Given the description of an element on the screen output the (x, y) to click on. 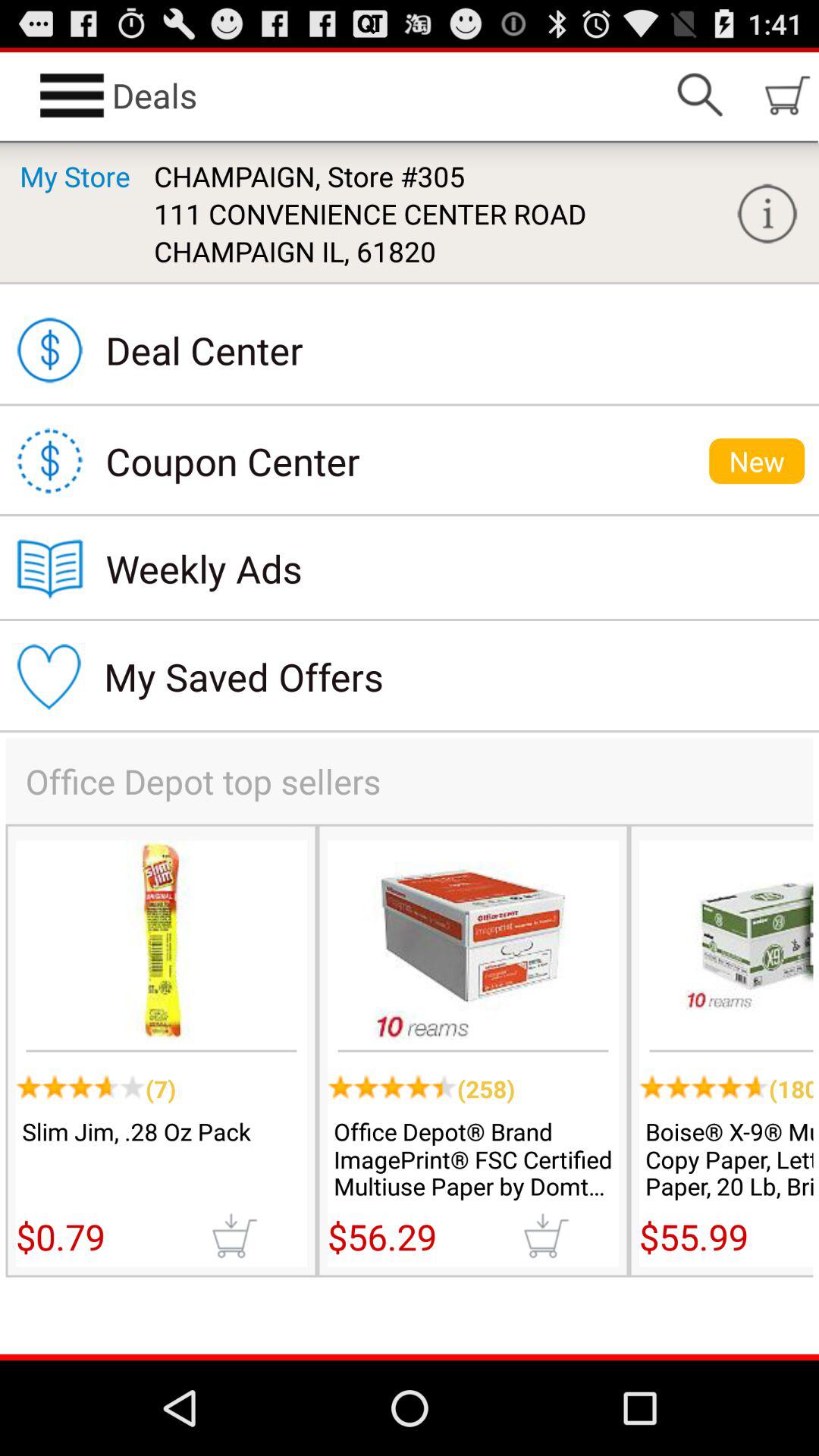
turn on the app next to champaign, store #305 (767, 213)
